Given the description of an element on the screen output the (x, y) to click on. 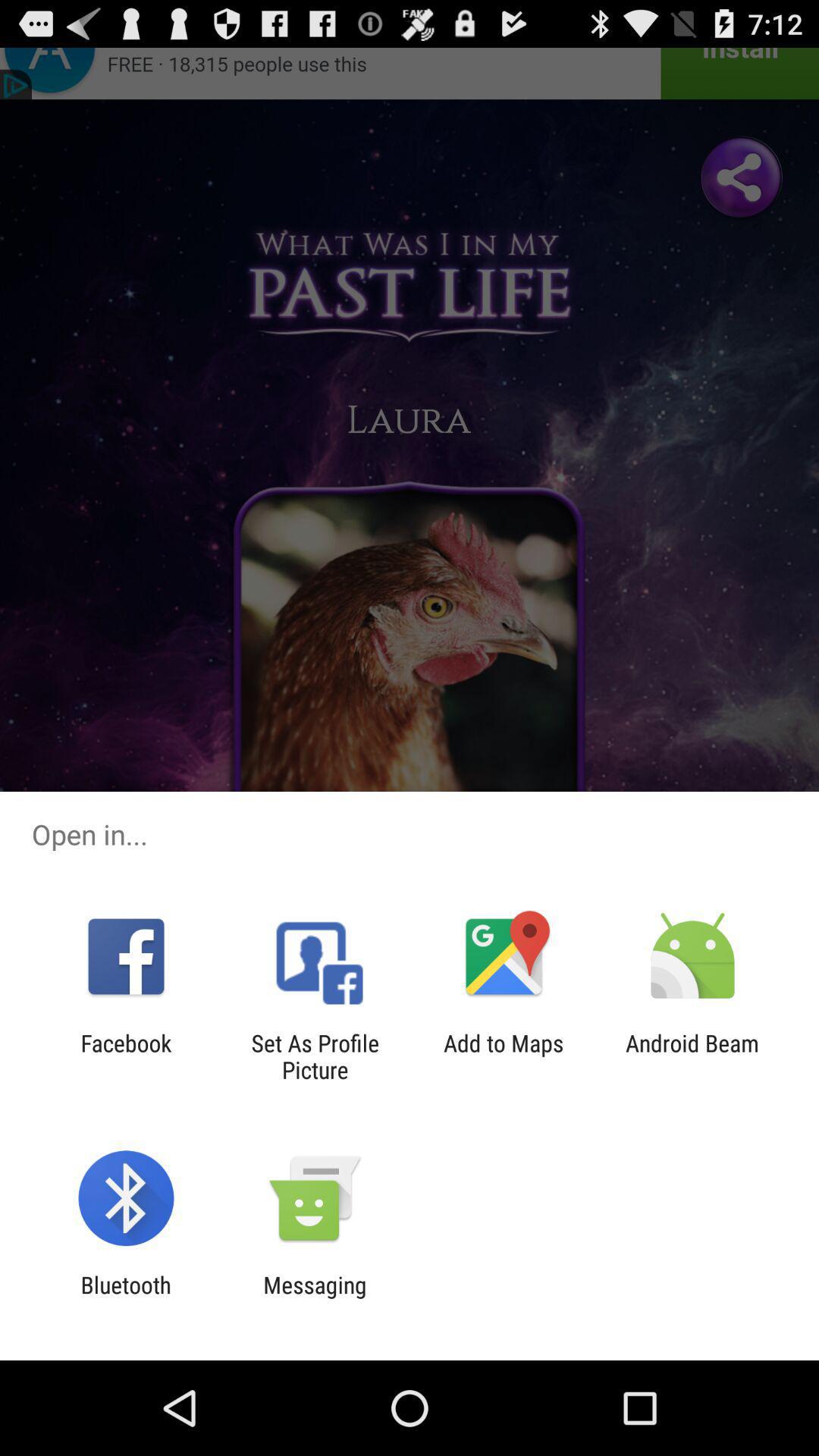
click the app to the right of the bluetooth app (314, 1298)
